Given the description of an element on the screen output the (x, y) to click on. 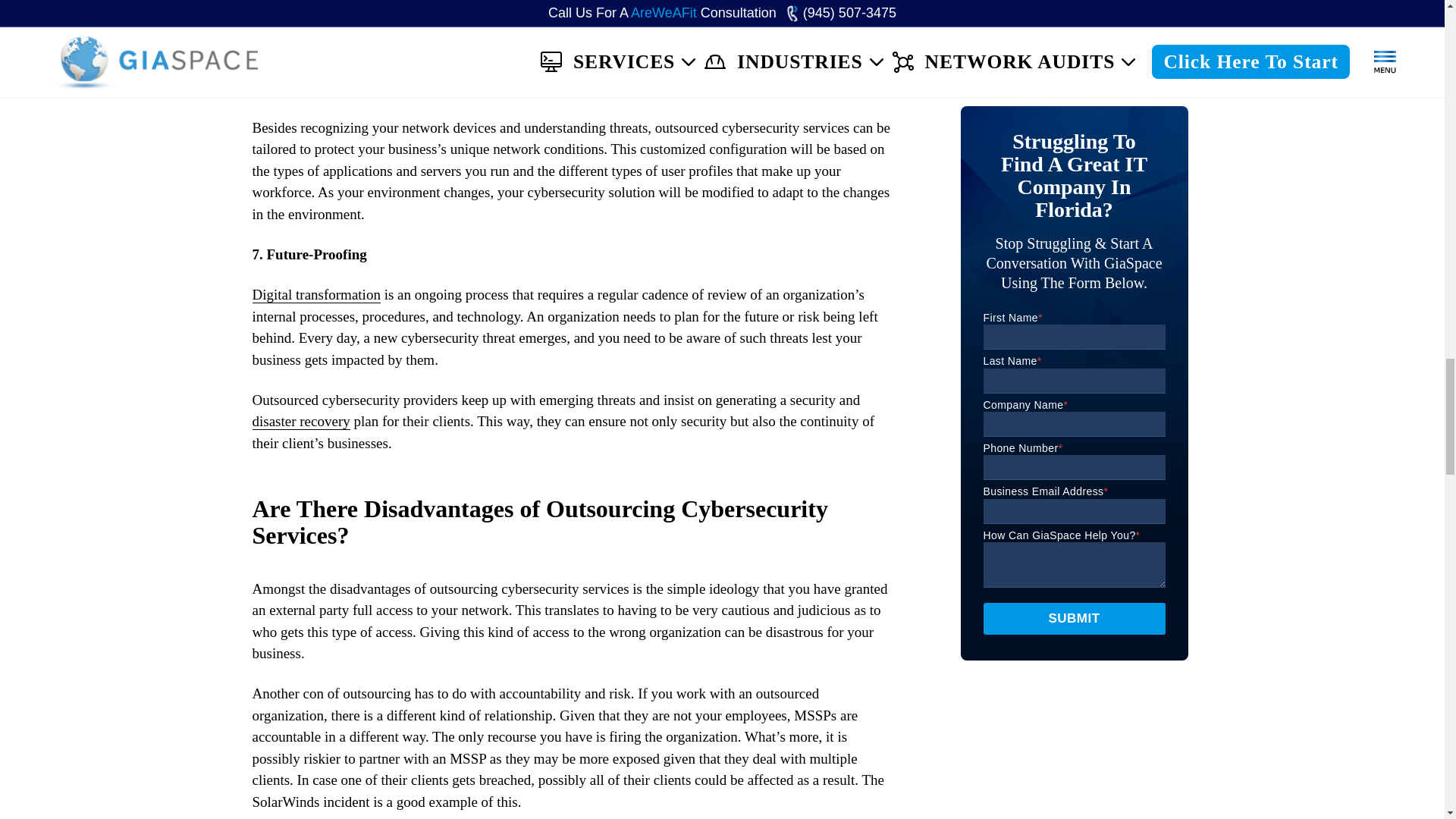
disaster recovery (300, 421)
Digital transformation (315, 294)
